Given the description of an element on the screen output the (x, y) to click on. 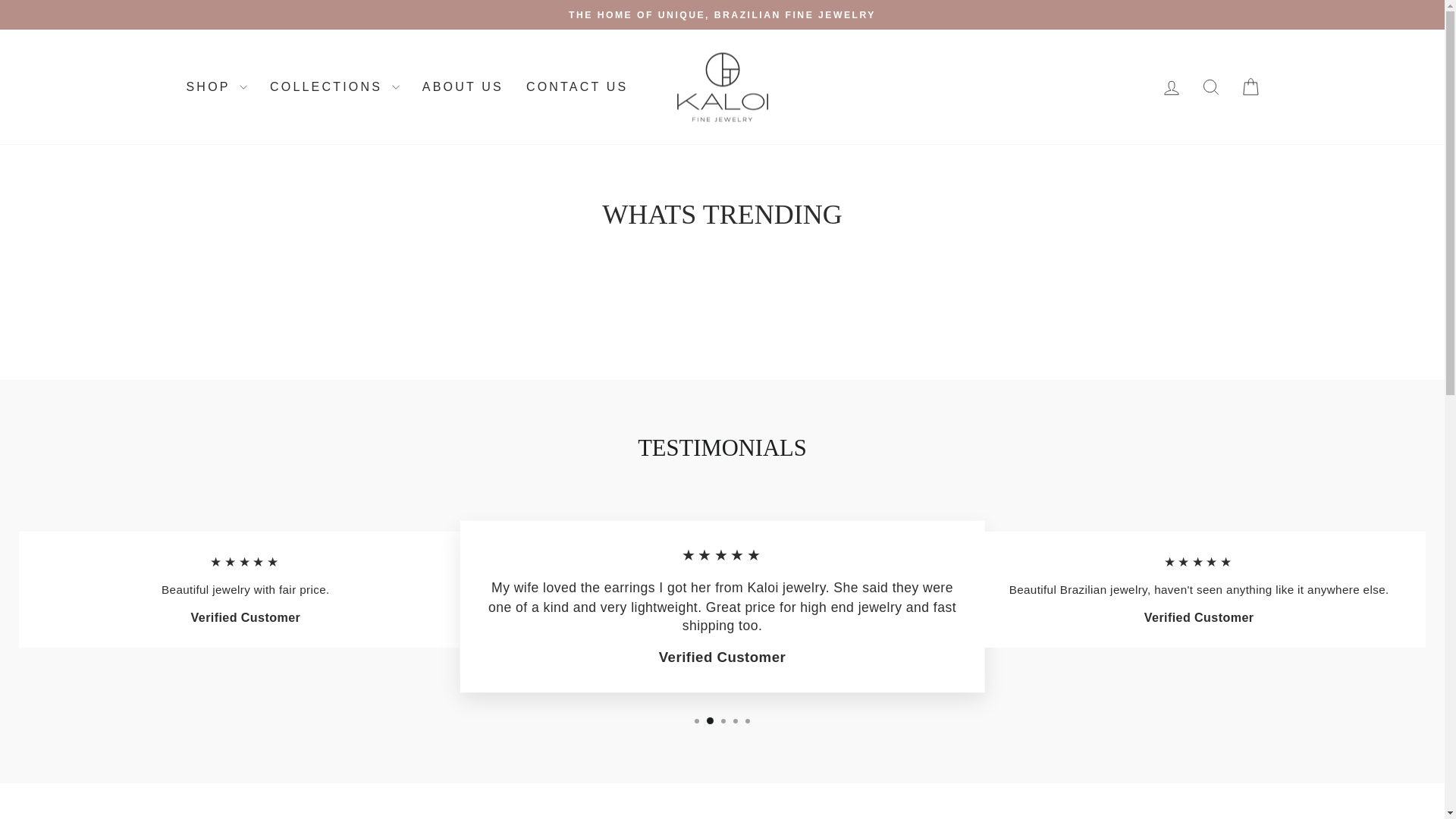
THE HOME OF UNIQUE, BRAZILIAN FINE JEWELRY (722, 14)
ACCOUNT (1170, 87)
SEARCH (1210, 86)
